Given the description of an element on the screen output the (x, y) to click on. 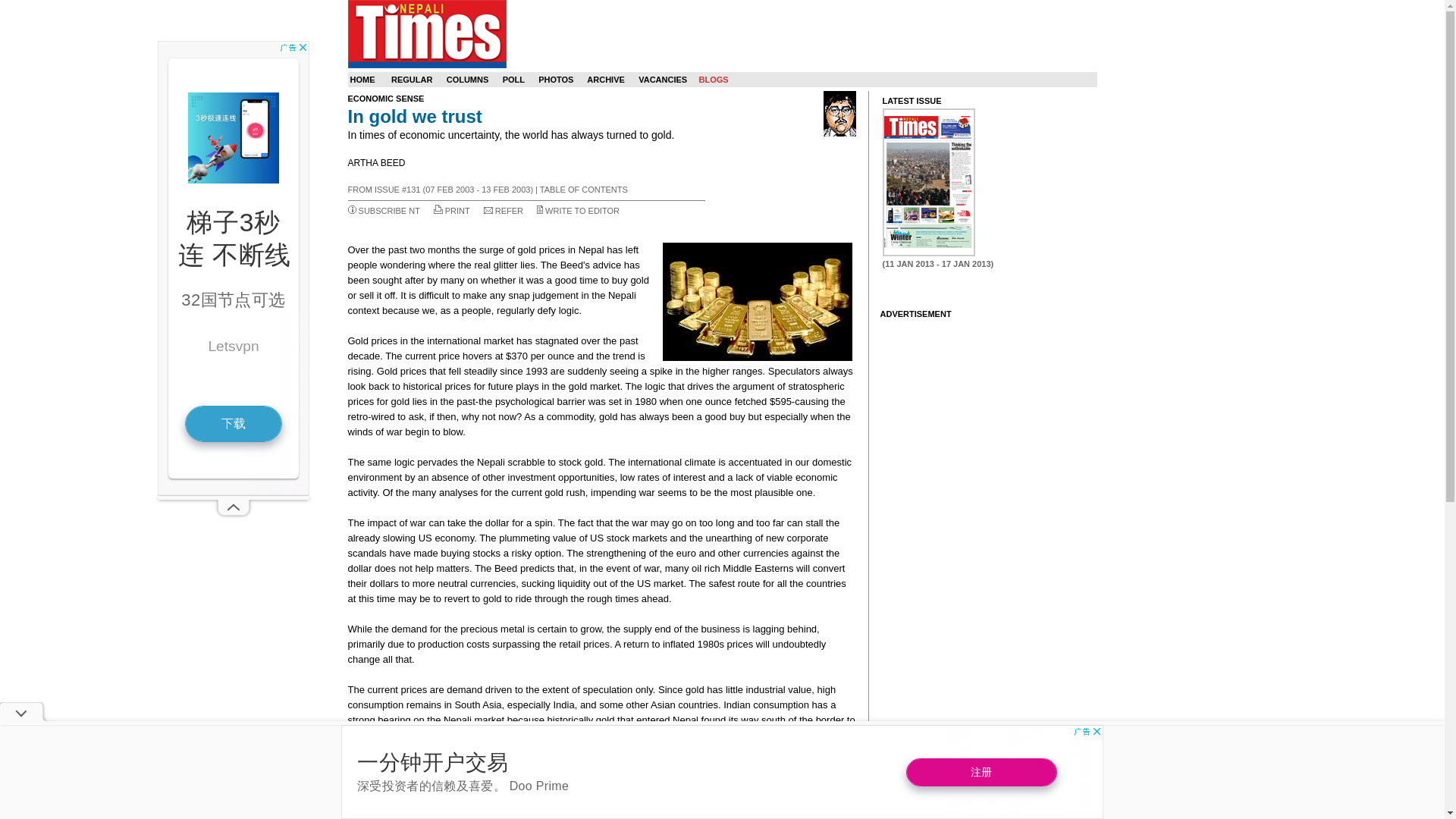
WRITE TO EDITOR (582, 210)
SUBSCRIBE NT (389, 210)
REGULAR (411, 79)
Nepali Times (426, 33)
VACANCIES (663, 79)
POLL (513, 79)
BLOGS (713, 79)
PRINT (458, 210)
ARCHIVE (605, 79)
PHOTOS (555, 79)
